Given the description of an element on the screen output the (x, y) to click on. 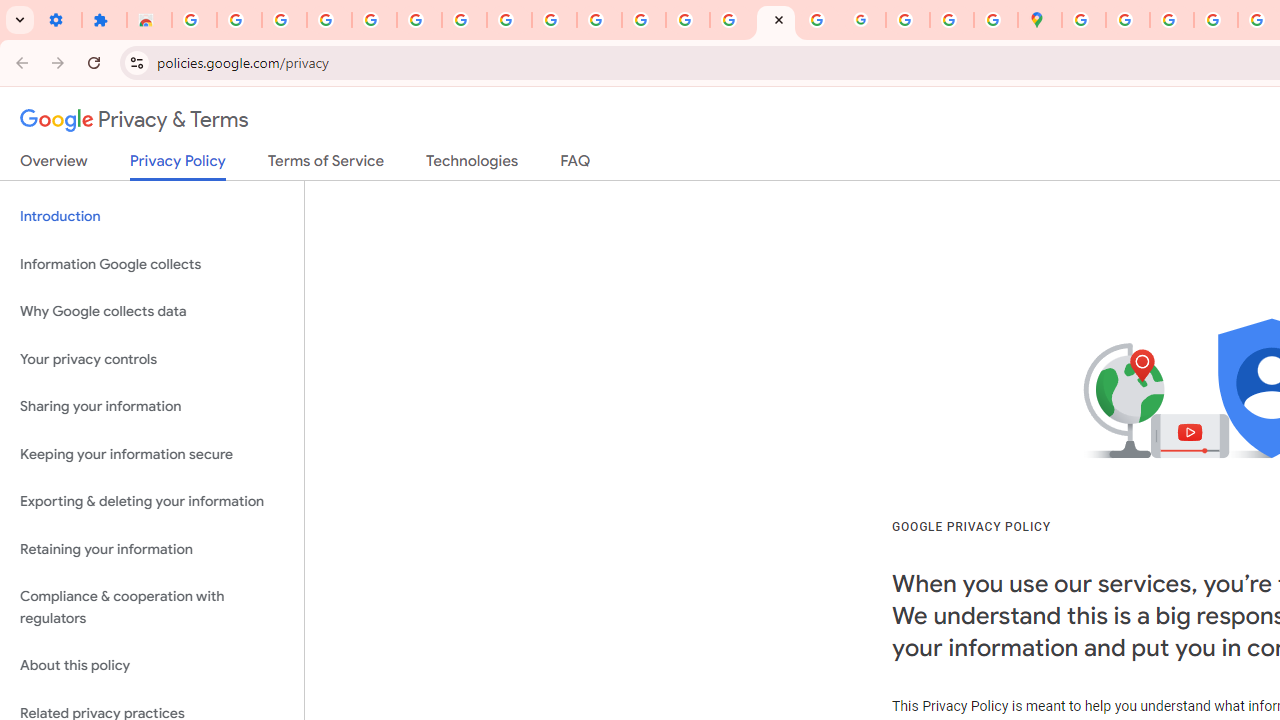
Sign in - Google Accounts (194, 20)
Introduction (152, 216)
Why Google collects data (152, 312)
Learn how to find your photos - Google Photos Help (284, 20)
YouTube (509, 20)
Terms of Service (326, 165)
Your privacy controls (152, 358)
